Given the description of an element on the screen output the (x, y) to click on. 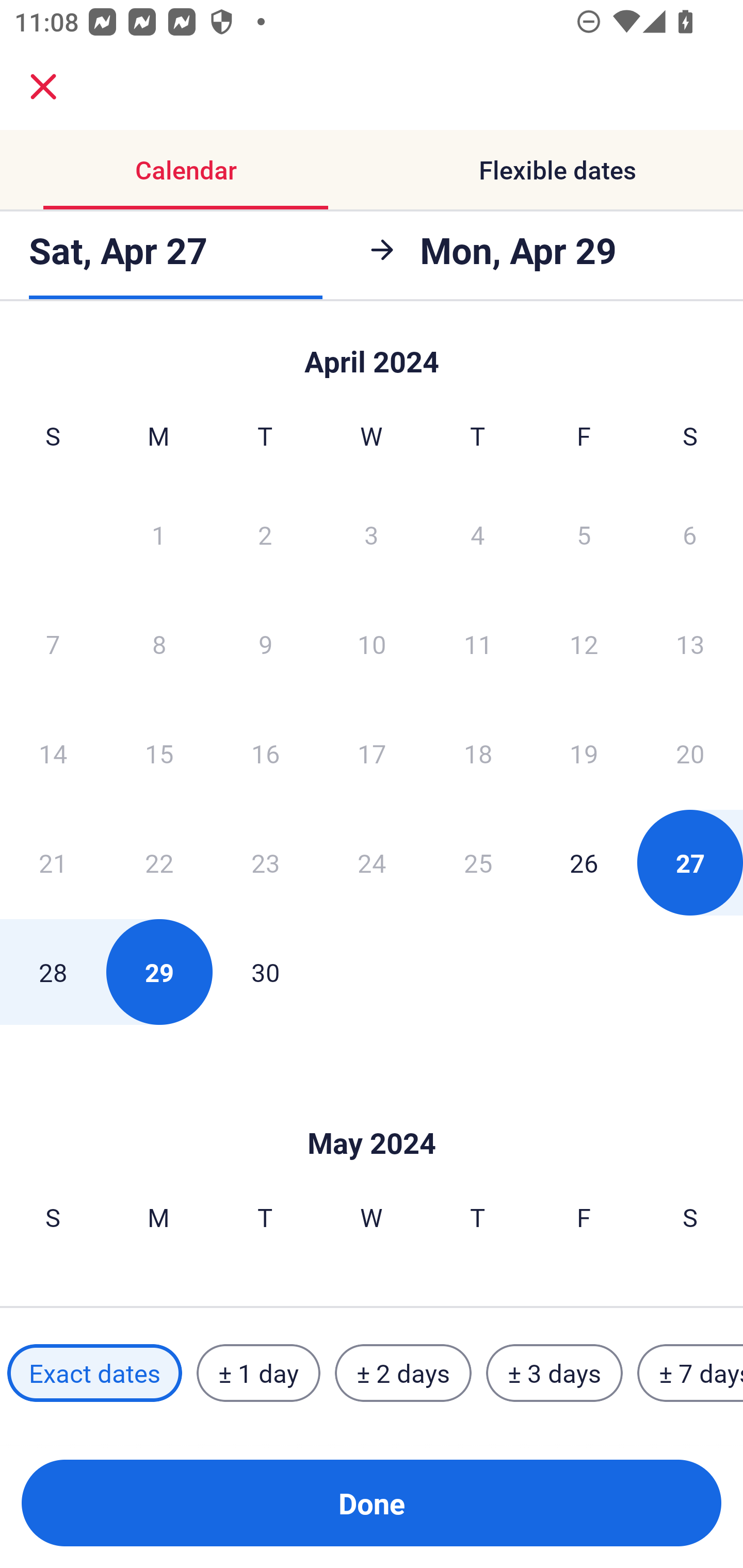
close. (43, 86)
Flexible dates (557, 170)
Skip to Done (371, 352)
1 Monday, April 1, 2024 (158, 534)
2 Tuesday, April 2, 2024 (264, 534)
3 Wednesday, April 3, 2024 (371, 534)
4 Thursday, April 4, 2024 (477, 534)
5 Friday, April 5, 2024 (583, 534)
6 Saturday, April 6, 2024 (689, 534)
7 Sunday, April 7, 2024 (53, 643)
8 Monday, April 8, 2024 (159, 643)
9 Tuesday, April 9, 2024 (265, 643)
10 Wednesday, April 10, 2024 (371, 643)
11 Thursday, April 11, 2024 (477, 643)
12 Friday, April 12, 2024 (584, 643)
13 Saturday, April 13, 2024 (690, 643)
14 Sunday, April 14, 2024 (53, 752)
15 Monday, April 15, 2024 (159, 752)
16 Tuesday, April 16, 2024 (265, 752)
17 Wednesday, April 17, 2024 (371, 752)
18 Thursday, April 18, 2024 (477, 752)
19 Friday, April 19, 2024 (584, 752)
20 Saturday, April 20, 2024 (690, 752)
21 Sunday, April 21, 2024 (53, 862)
22 Monday, April 22, 2024 (159, 862)
23 Tuesday, April 23, 2024 (265, 862)
24 Wednesday, April 24, 2024 (371, 862)
25 Thursday, April 25, 2024 (477, 862)
26 Friday, April 26, 2024 (584, 862)
30 Tuesday, April 30, 2024 (265, 971)
Skip to Done (371, 1112)
Exact dates (94, 1372)
± 1 day (258, 1372)
± 2 days (403, 1372)
± 3 days (553, 1372)
± 7 days (690, 1372)
Done (371, 1502)
